Given the description of an element on the screen output the (x, y) to click on. 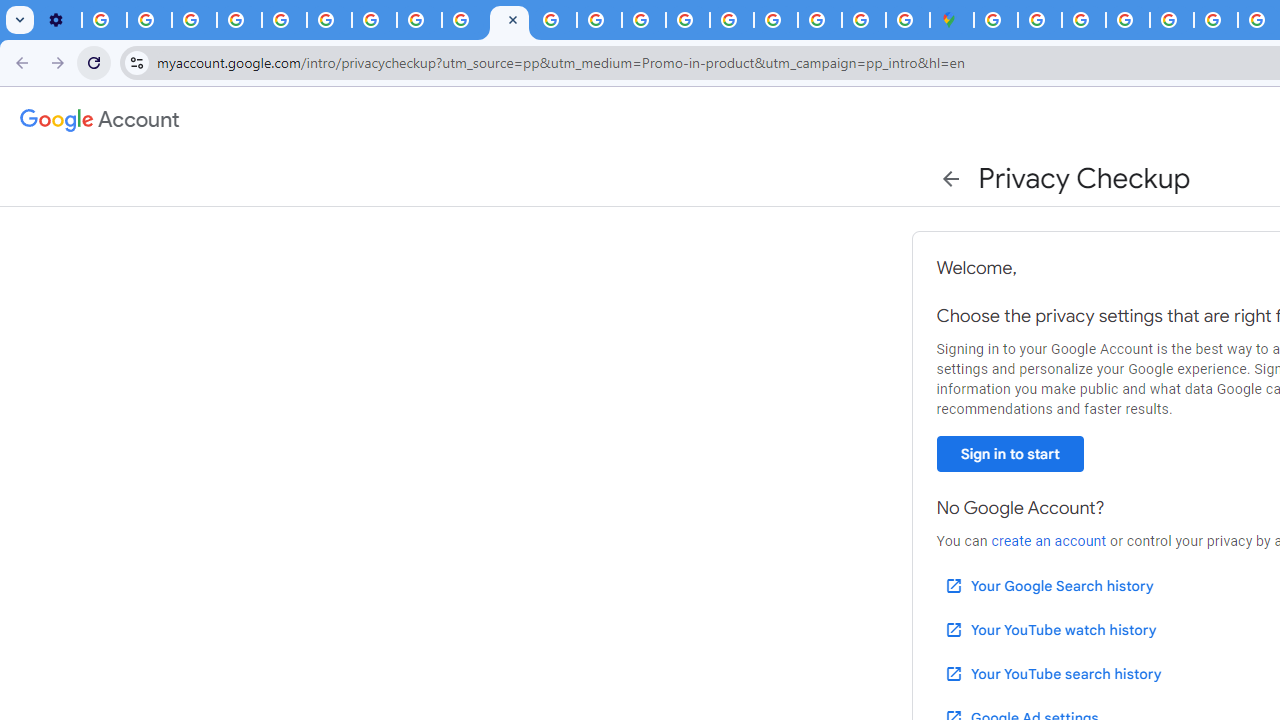
Your YouTube search history (1052, 673)
Sign in - Google Accounts (775, 20)
Settings - Customize profile (59, 20)
Privacy Help Center - Policies Help (599, 20)
Google Maps (952, 20)
Learn how to find your photos - Google Photos Help (148, 20)
